Given the description of an element on the screen output the (x, y) to click on. 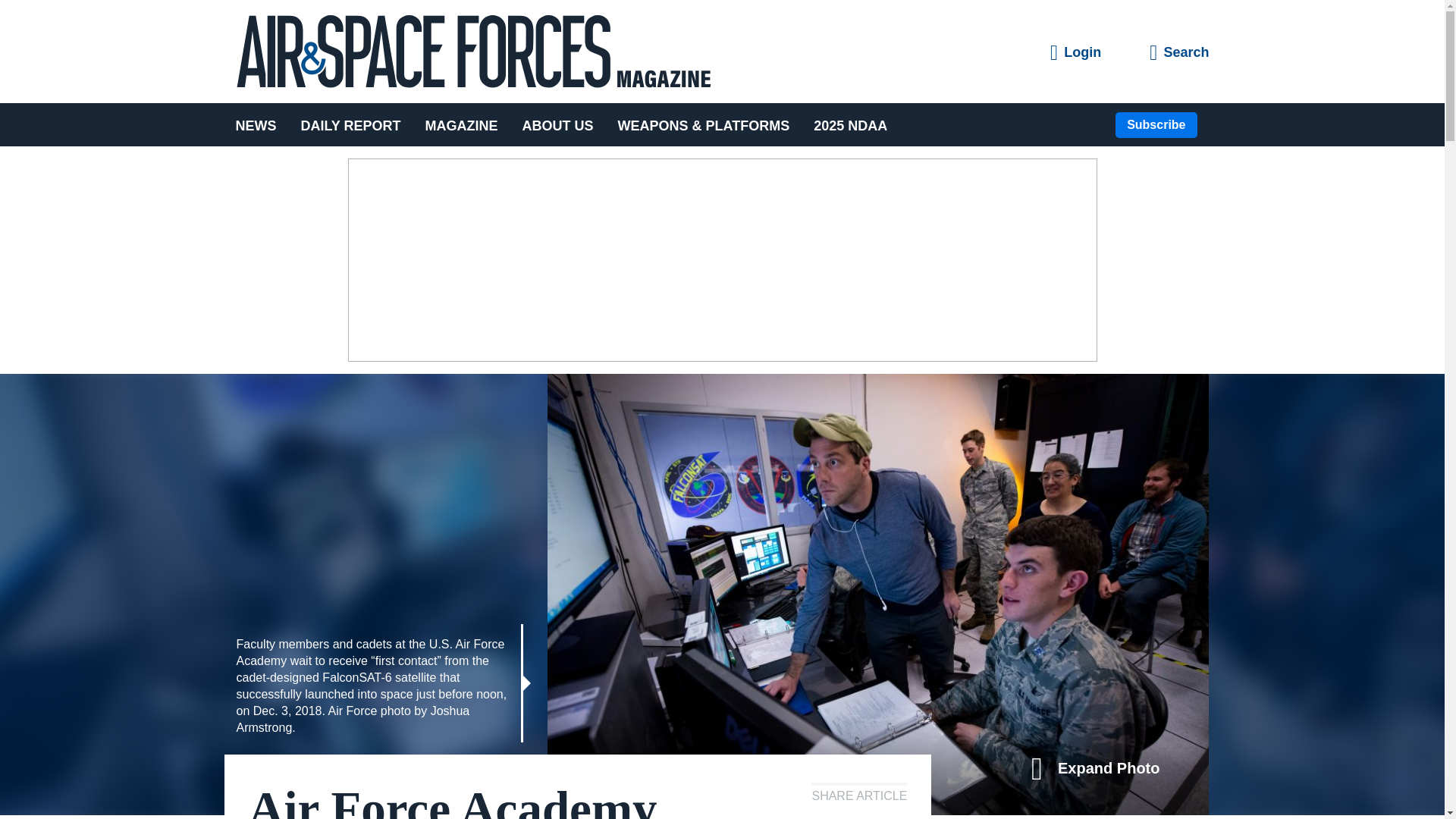
NEWS (261, 124)
Search (1179, 52)
DAILY REPORT (350, 124)
ABOUT US (558, 124)
MAGAZINE (462, 124)
Login (1074, 52)
